Given the description of an element on the screen output the (x, y) to click on. 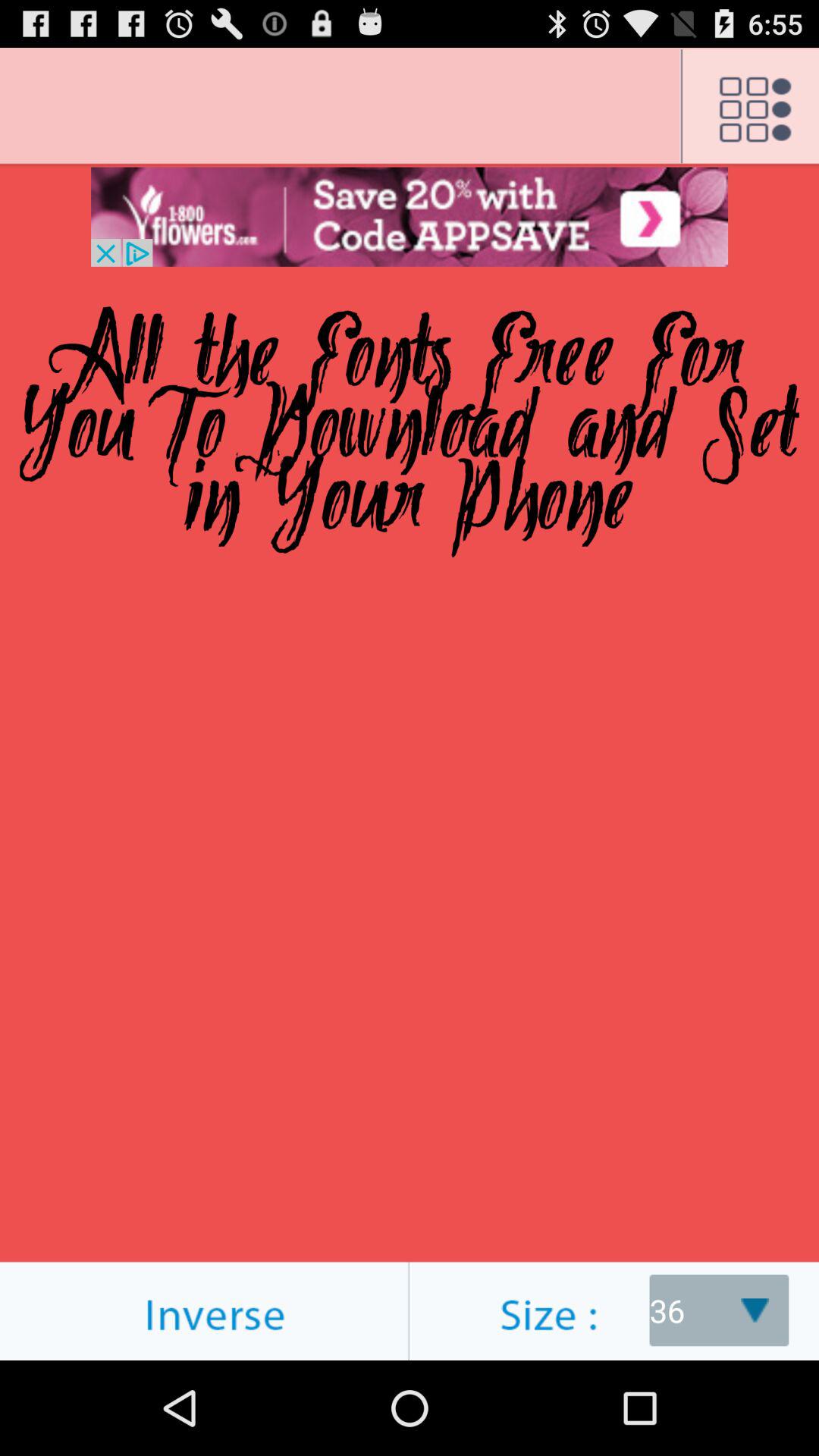
go to size (614, 1310)
